Given the description of an element on the screen output the (x, y) to click on. 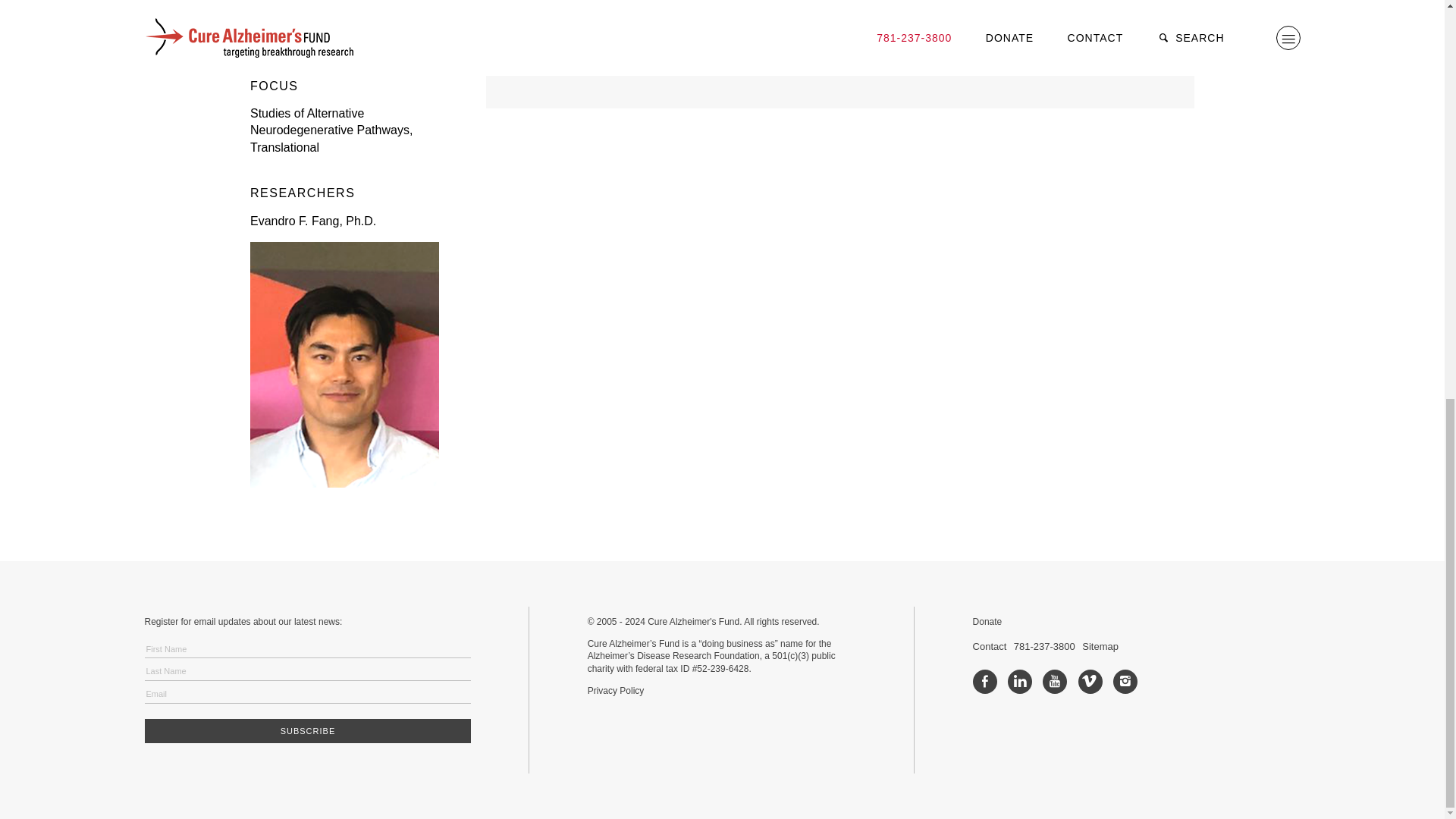
Subscribe (307, 731)
